Given the description of an element on the screen output the (x, y) to click on. 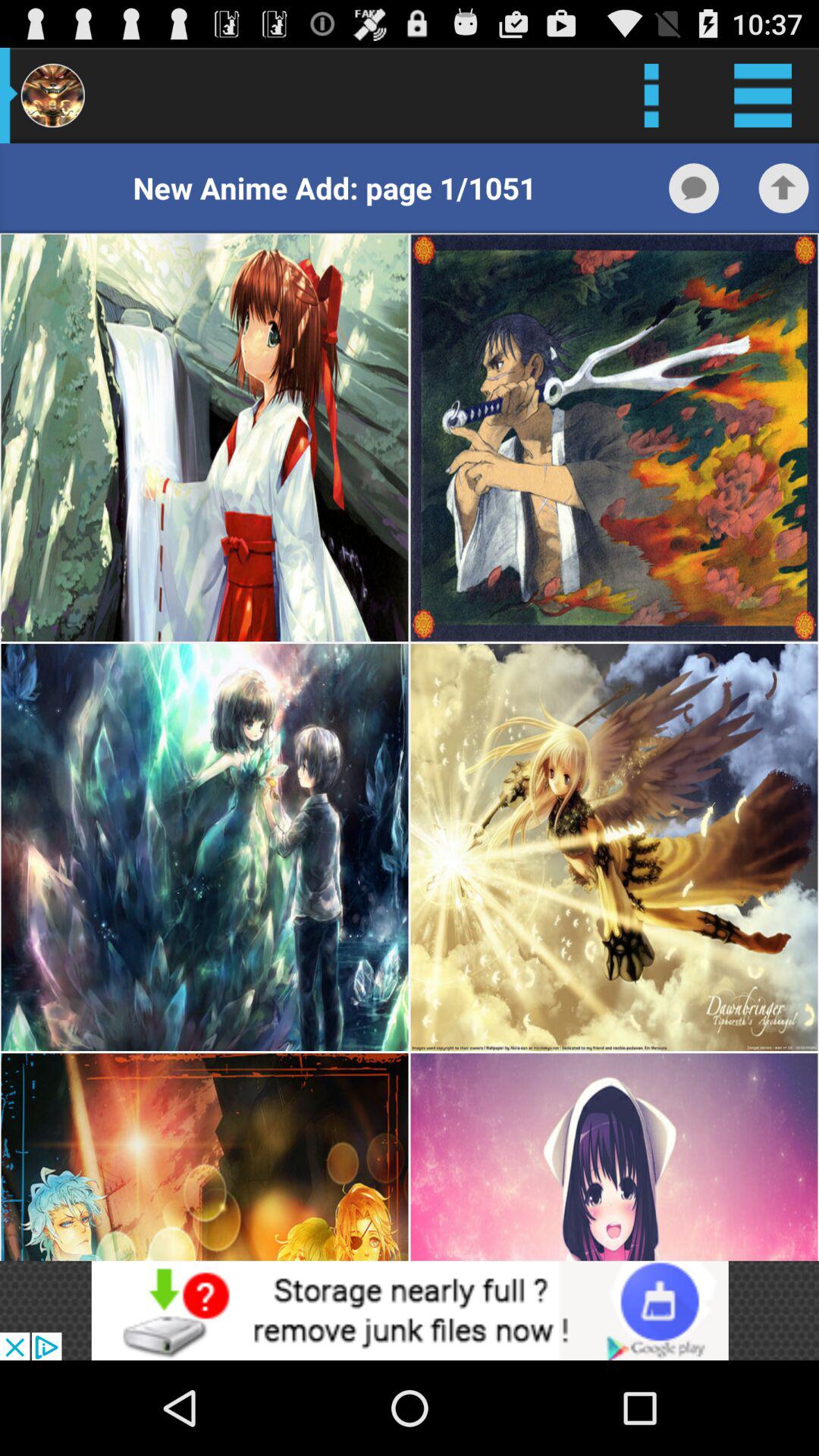
share this (783, 188)
